Given the description of an element on the screen output the (x, y) to click on. 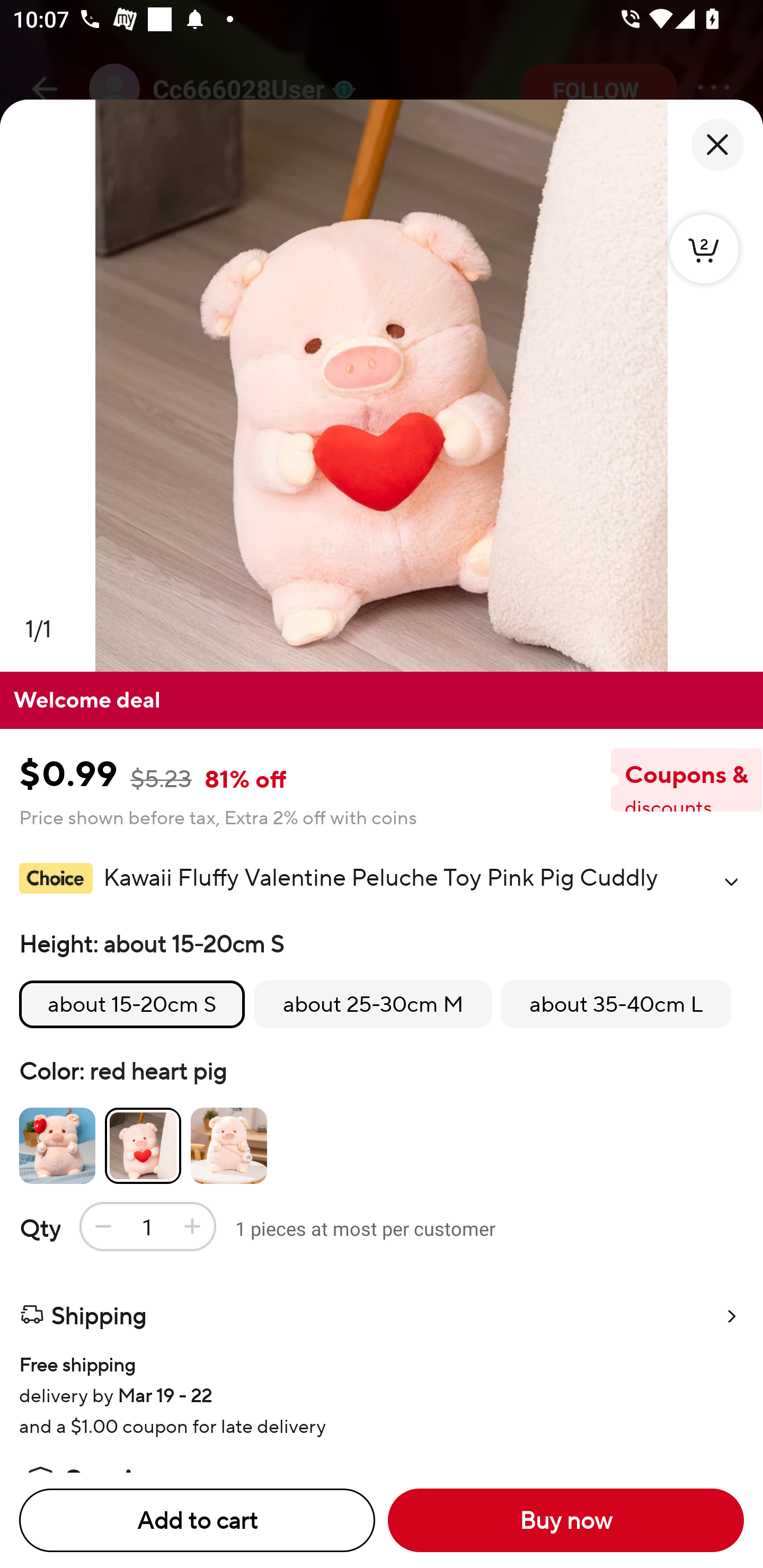
close  (717, 144)
2 (703, 248)
 (730, 881)
about 15-20cm S (131, 1004)
about 25-30cm M (372, 1004)
about 35-40cm L (615, 1004)
Add to cart (197, 1520)
Buy now (565, 1520)
